Given the description of an element on the screen output the (x, y) to click on. 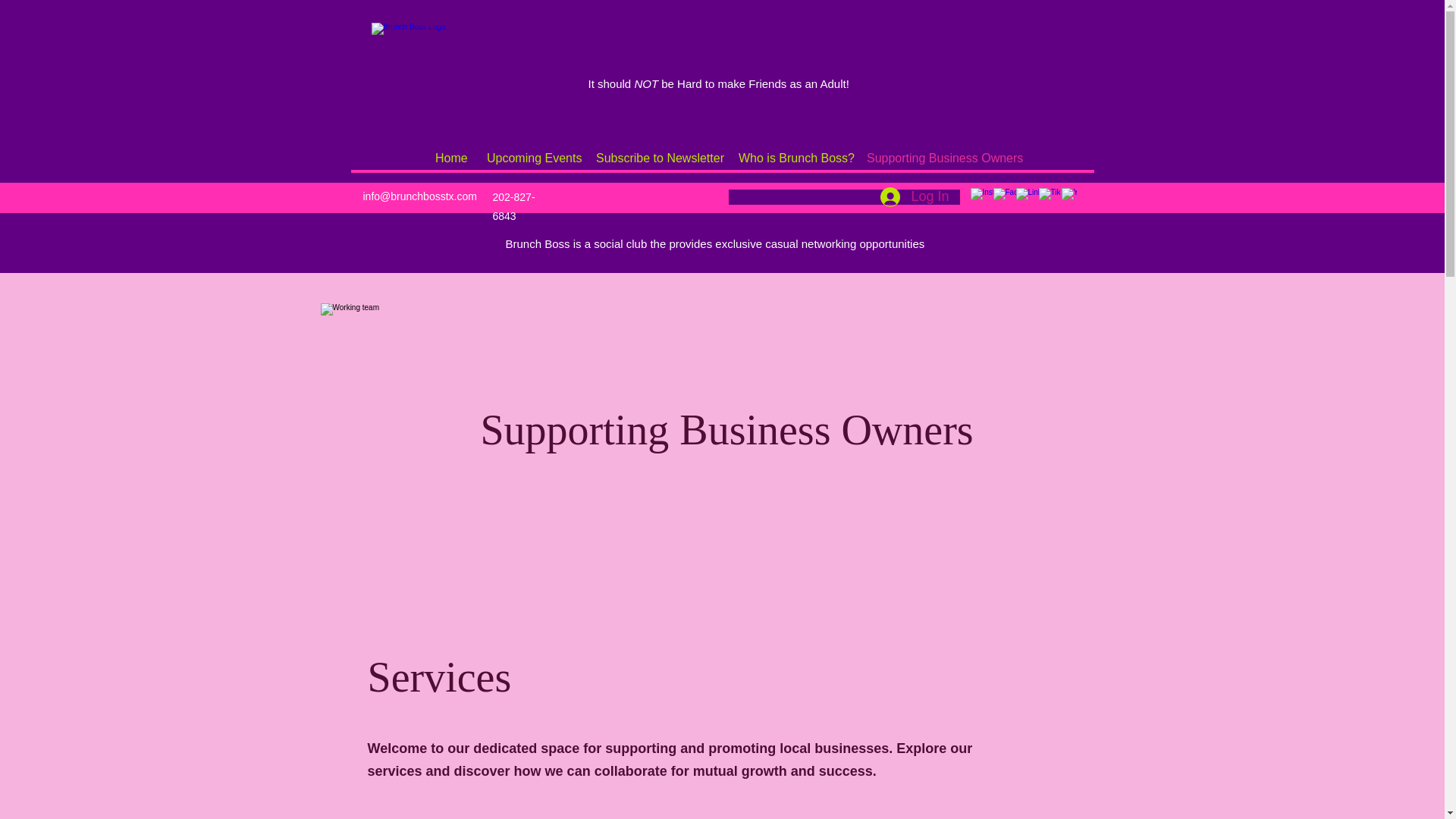
Home (448, 158)
Upcoming Events (528, 158)
Subscribe to Newsletter (654, 158)
Log In (914, 196)
Supporting Business Owners (938, 158)
Who is Brunch Boss? (790, 158)
